Given the description of an element on the screen output the (x, y) to click on. 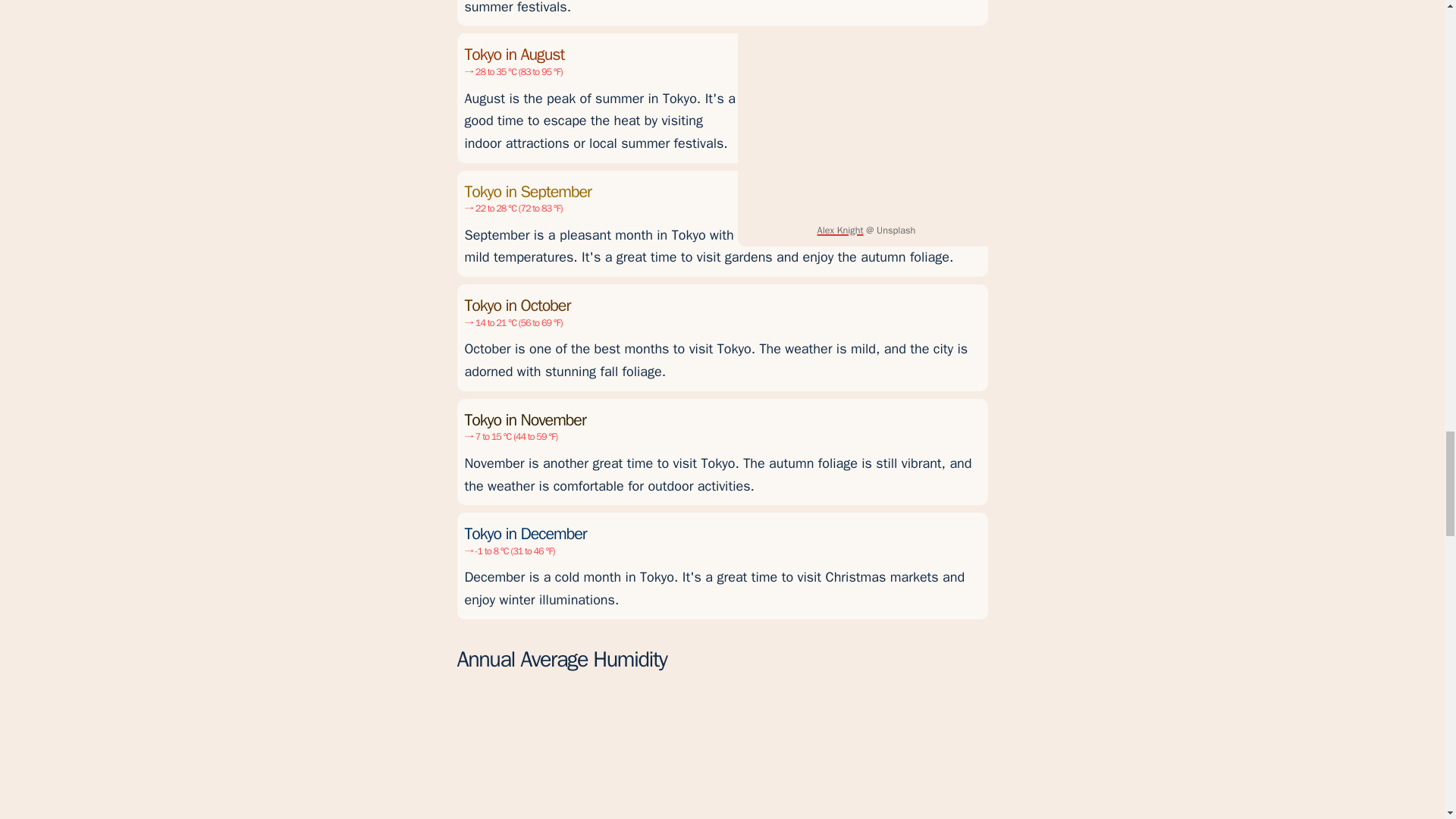
Alex Knight (839, 230)
